Given the description of an element on the screen output the (x, y) to click on. 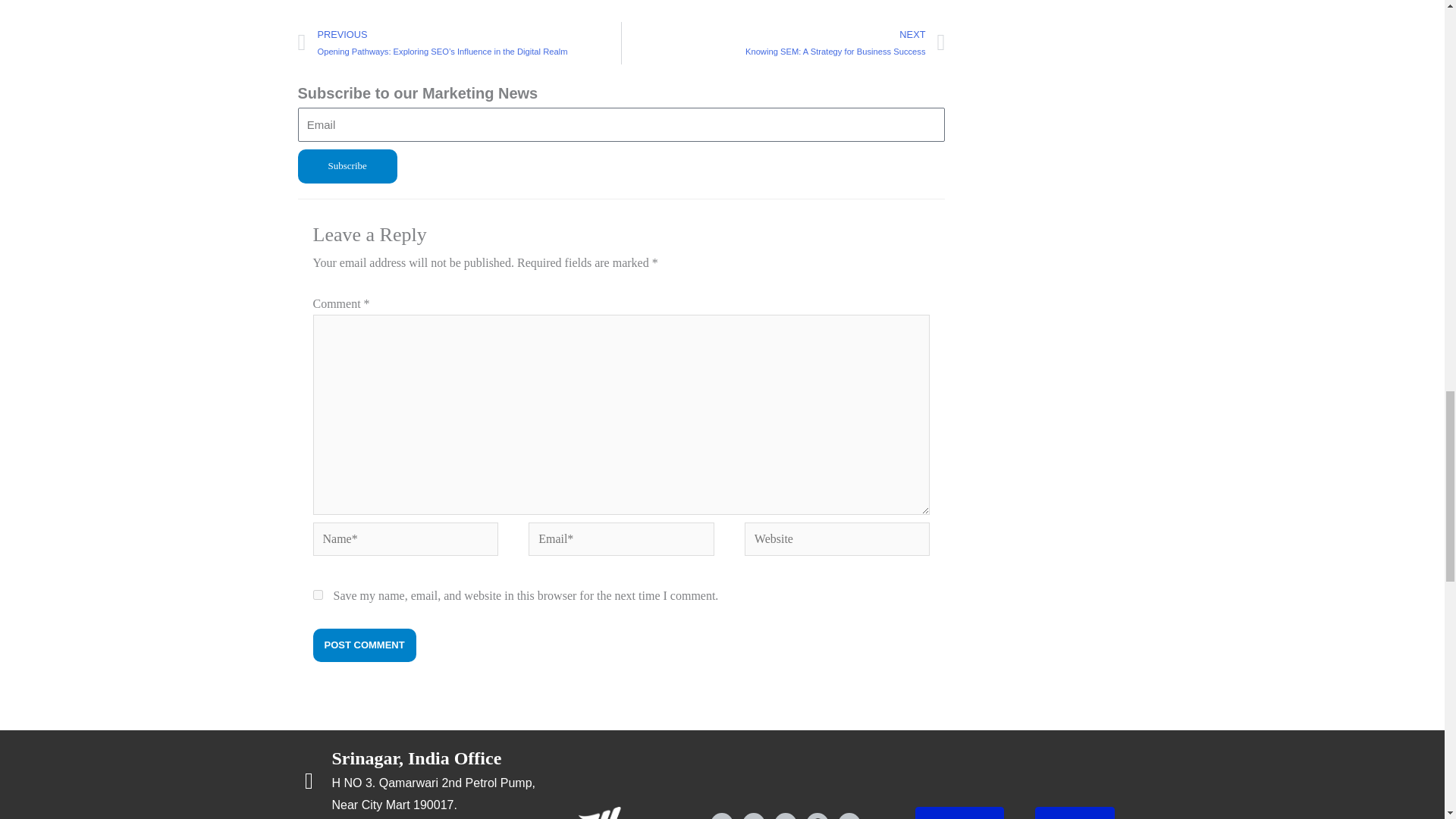
yes (317, 594)
Post Comment (363, 644)
